Given the description of an element on the screen output the (x, y) to click on. 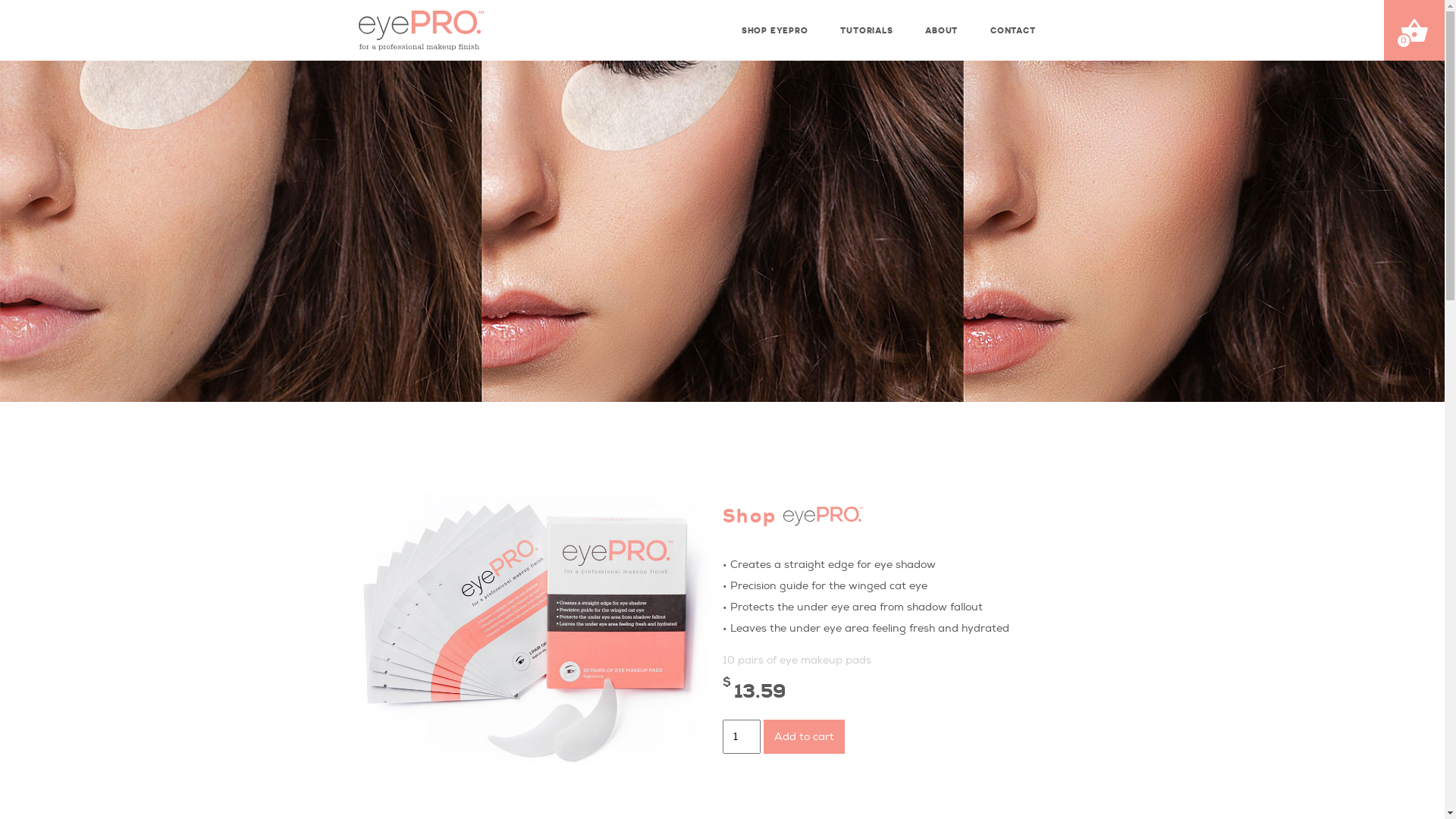
Add to cart Element type: text (803, 736)
SHOP EYEPRO Element type: text (773, 24)
CONTACT Element type: text (1010, 24)
TUTORIALS Element type: text (864, 24)
ABOUT Element type: text (939, 24)
Qty Element type: hover (740, 736)
